Given the description of an element on the screen output the (x, y) to click on. 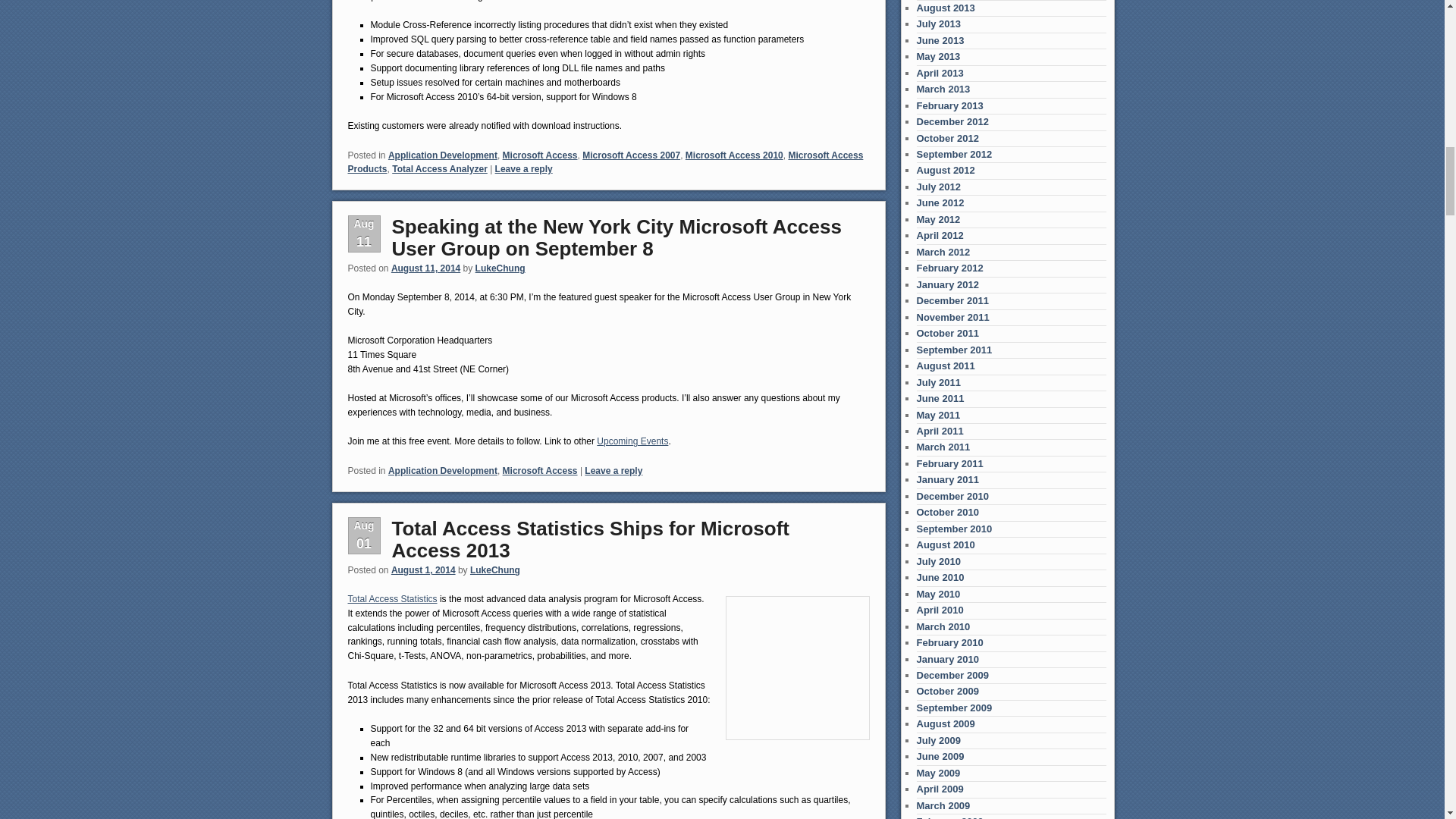
View all posts by LukeChung (500, 267)
11:06 AM (425, 267)
9:00 AM (423, 570)
